Given the description of an element on the screen output the (x, y) to click on. 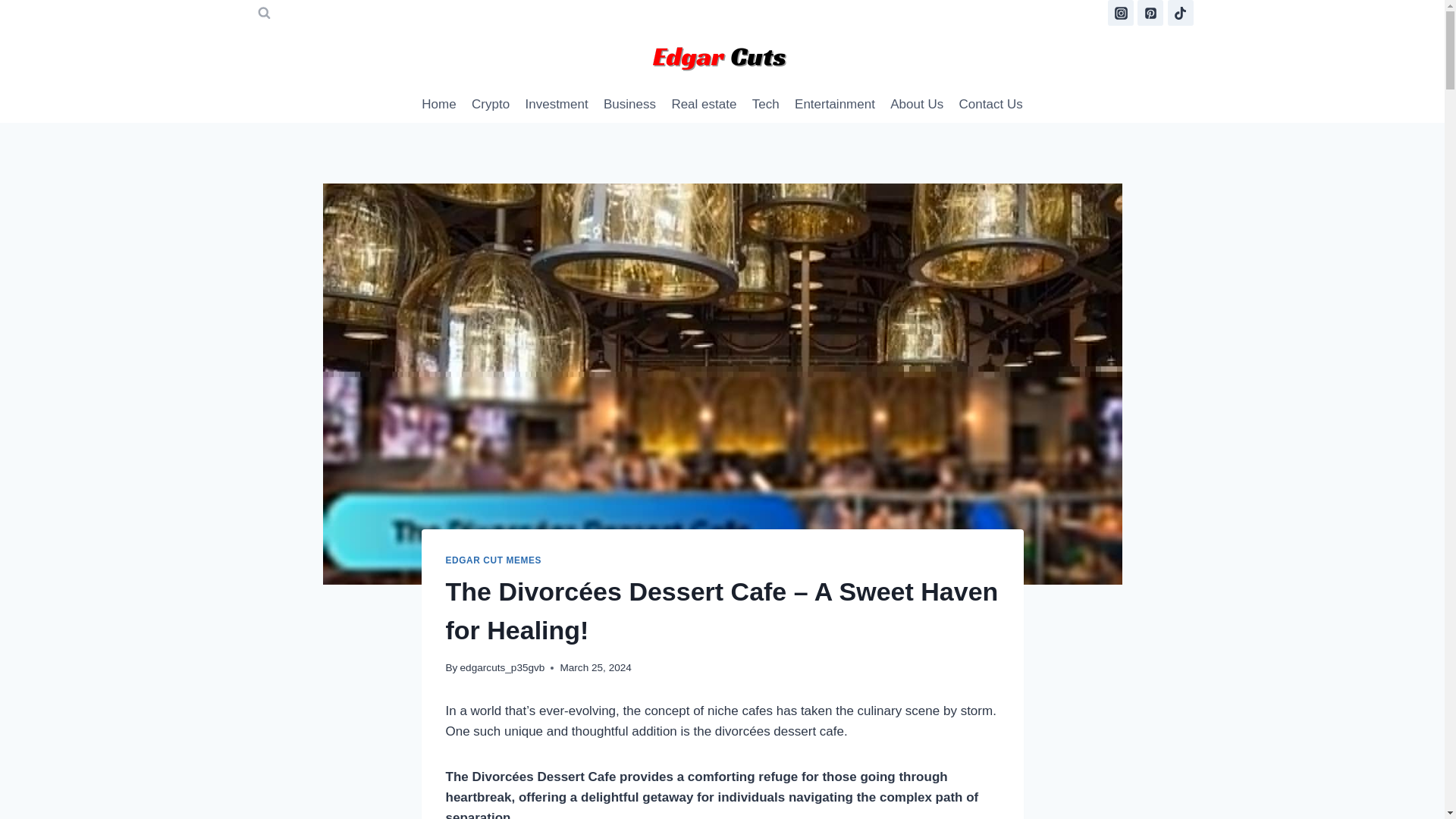
Investment (555, 104)
Entertainment (834, 104)
Crypto (490, 104)
Real estate (703, 104)
Home (438, 104)
Tech (765, 104)
EDGAR CUT MEMES (493, 560)
Contact Us (989, 104)
Business (629, 104)
About Us (916, 104)
